Given the description of an element on the screen output the (x, y) to click on. 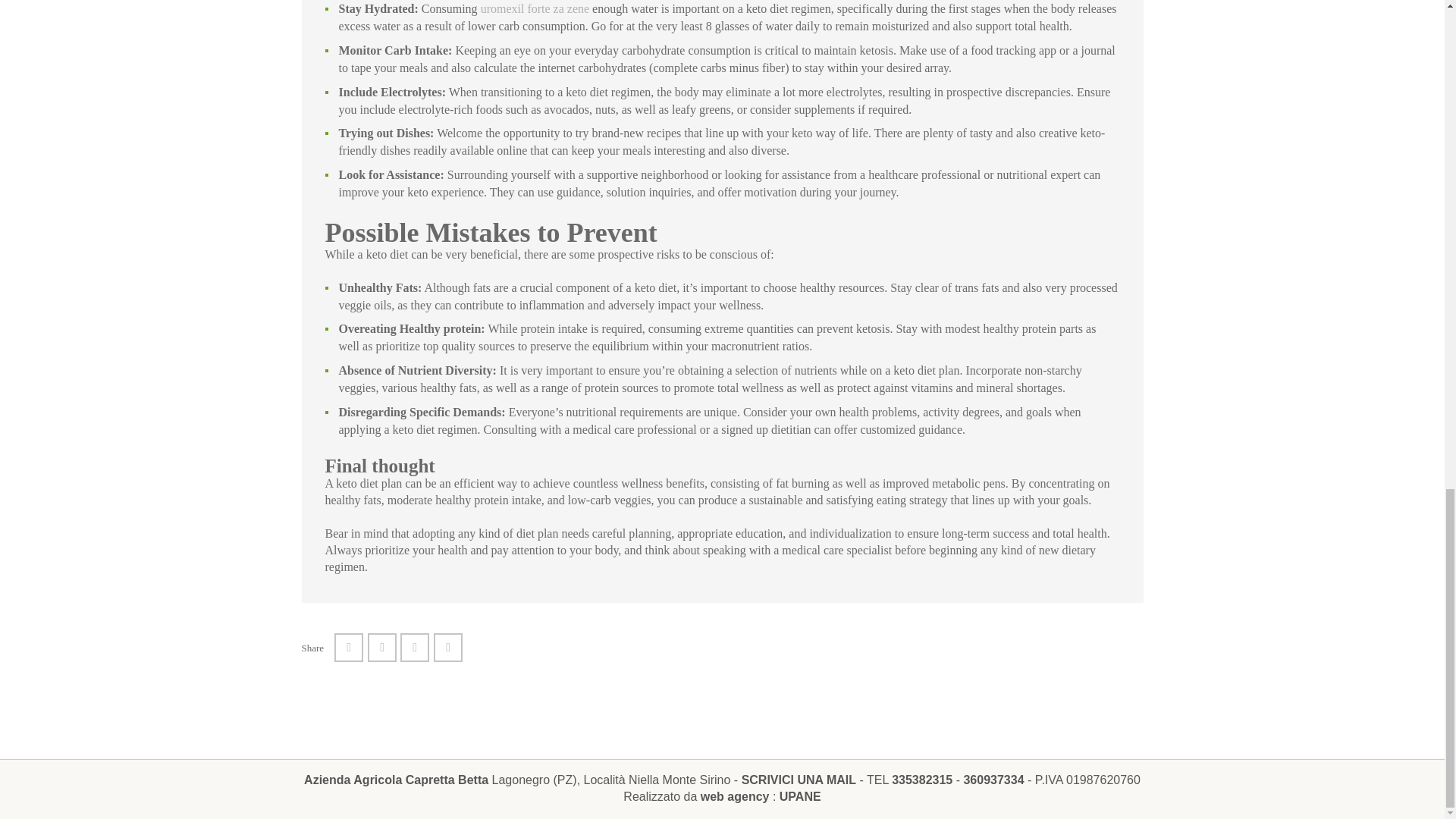
Azienda Agricola Capretta Betta (395, 779)
Realizzazione siti web Roma (799, 796)
web agency Roma (735, 796)
uromexil forte za zene (534, 8)
